Given the description of an element on the screen output the (x, y) to click on. 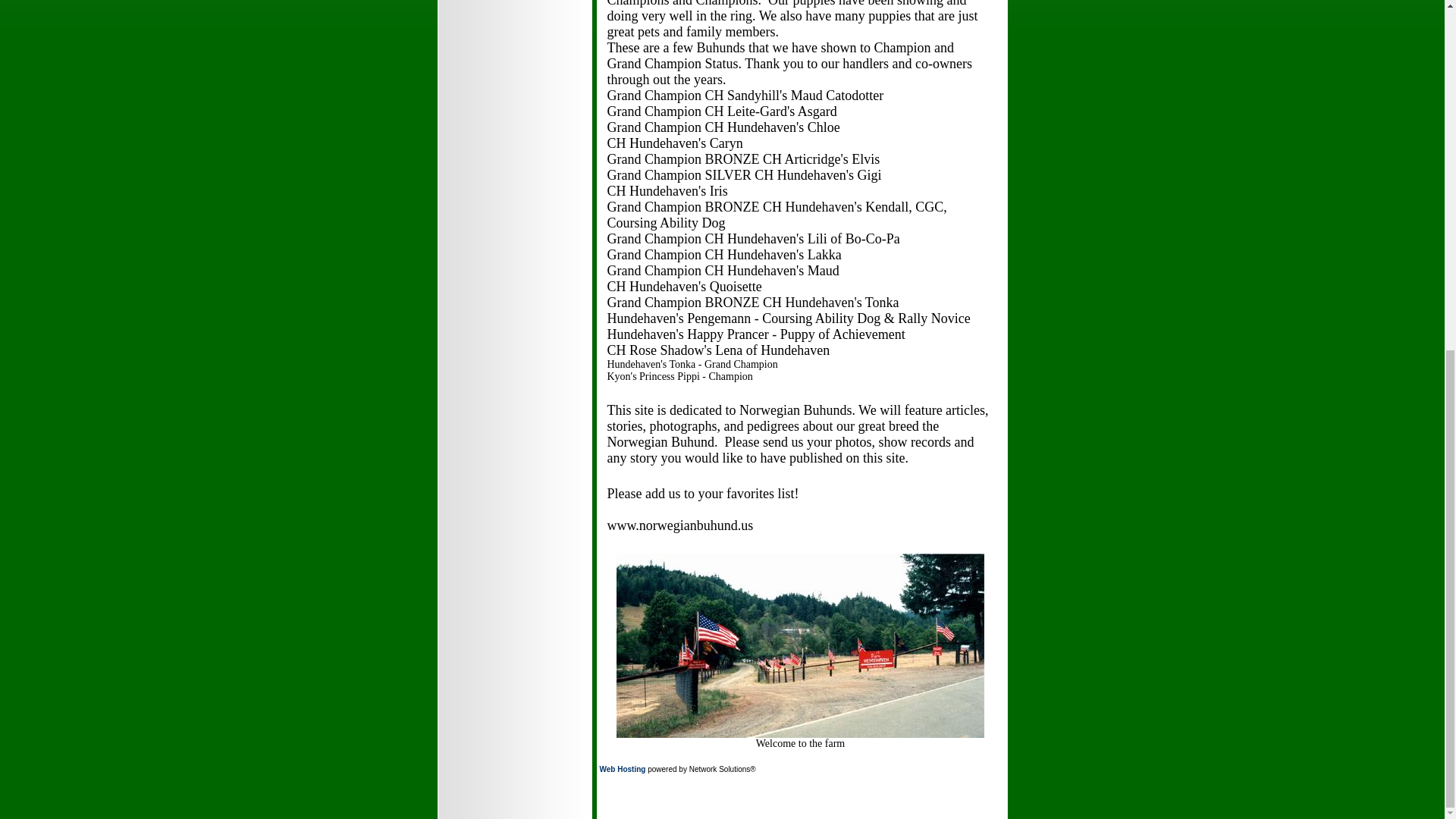
Web hosting (621, 768)
